Given the description of an element on the screen output the (x, y) to click on. 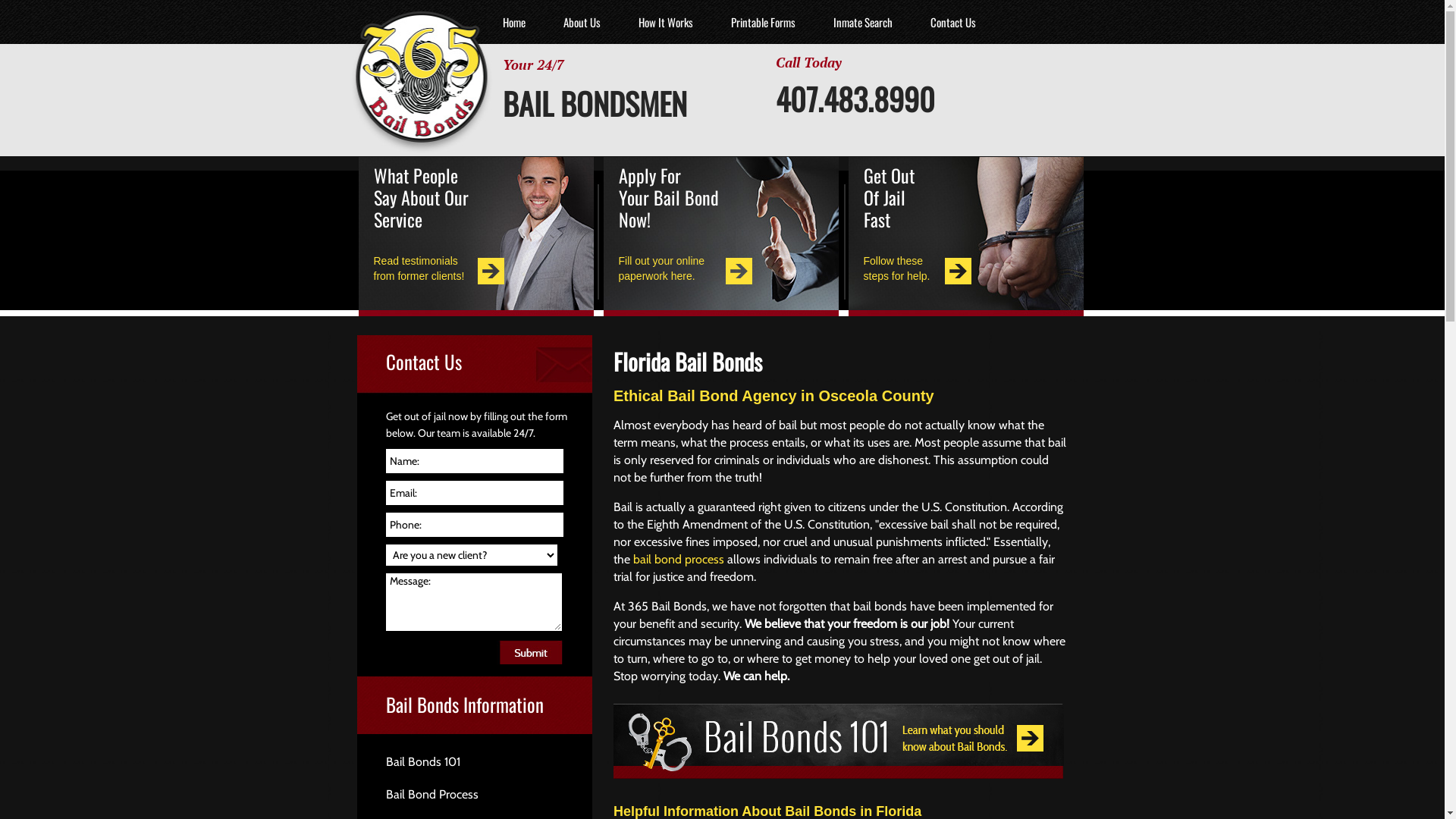
Contact Us Element type: text (952, 21)
Bail Bond Process Element type: text (488, 794)
bail bond process Element type: text (678, 559)
Printable Forms Element type: text (762, 21)
Bail Bonds 101 Element type: text (488, 761)
Home Element type: text (513, 21)
Bail Bonds Information Element type: text (488, 698)
About Us Element type: text (581, 21)
365 Bail Bonds Element type: hover (412, 87)
Inmate Search Element type: text (862, 21)
How It Works Element type: text (664, 21)
